Given the description of an element on the screen output the (x, y) to click on. 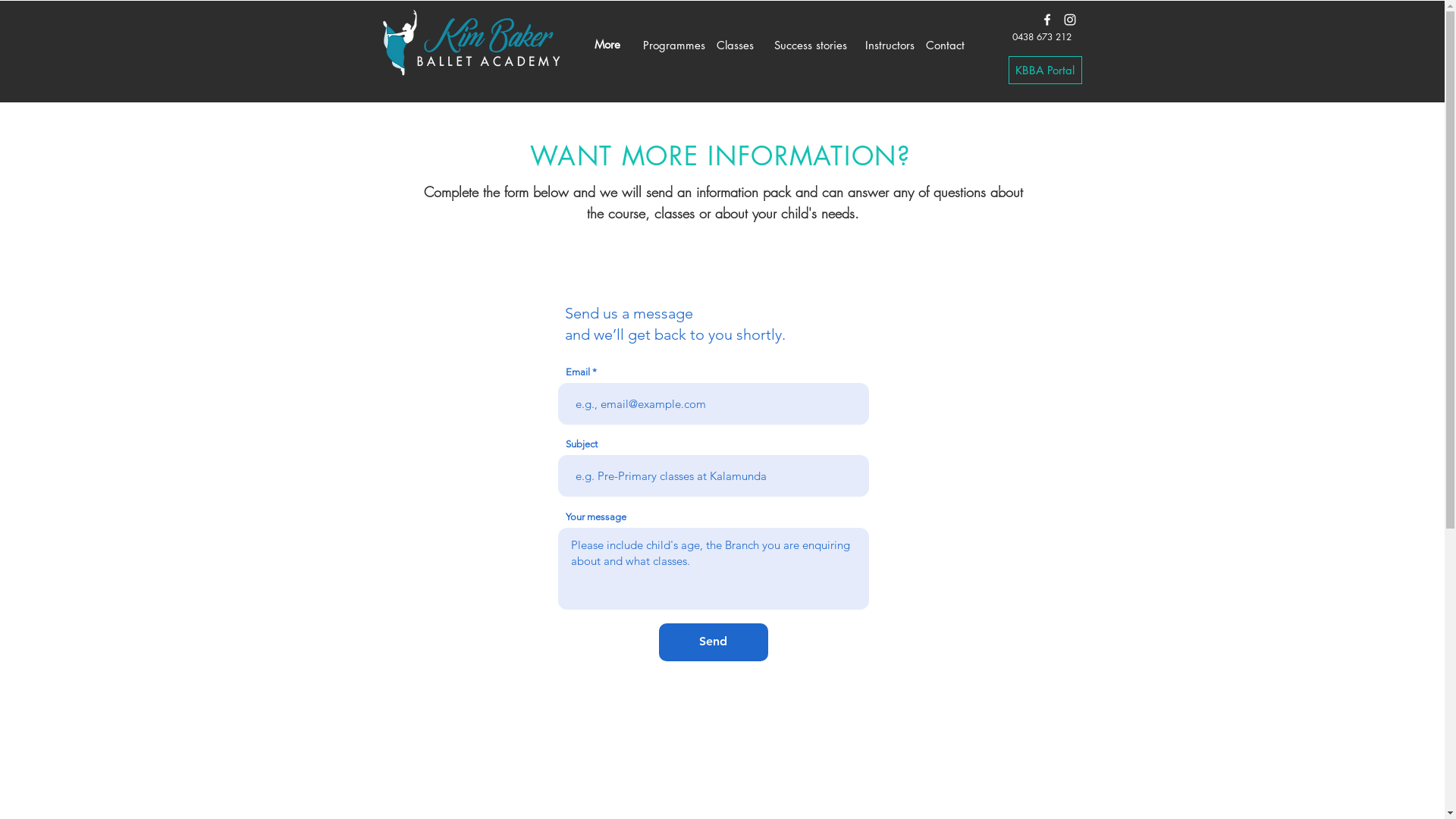
Success stories Element type: text (809, 44)
Classes Element type: text (734, 44)
Programmes Element type: text (673, 44)
Contact Element type: text (944, 44)
Send Element type: text (712, 642)
Instructors Element type: text (888, 44)
KBBA Portal Element type: text (1045, 70)
